Given the description of an element on the screen output the (x, y) to click on. 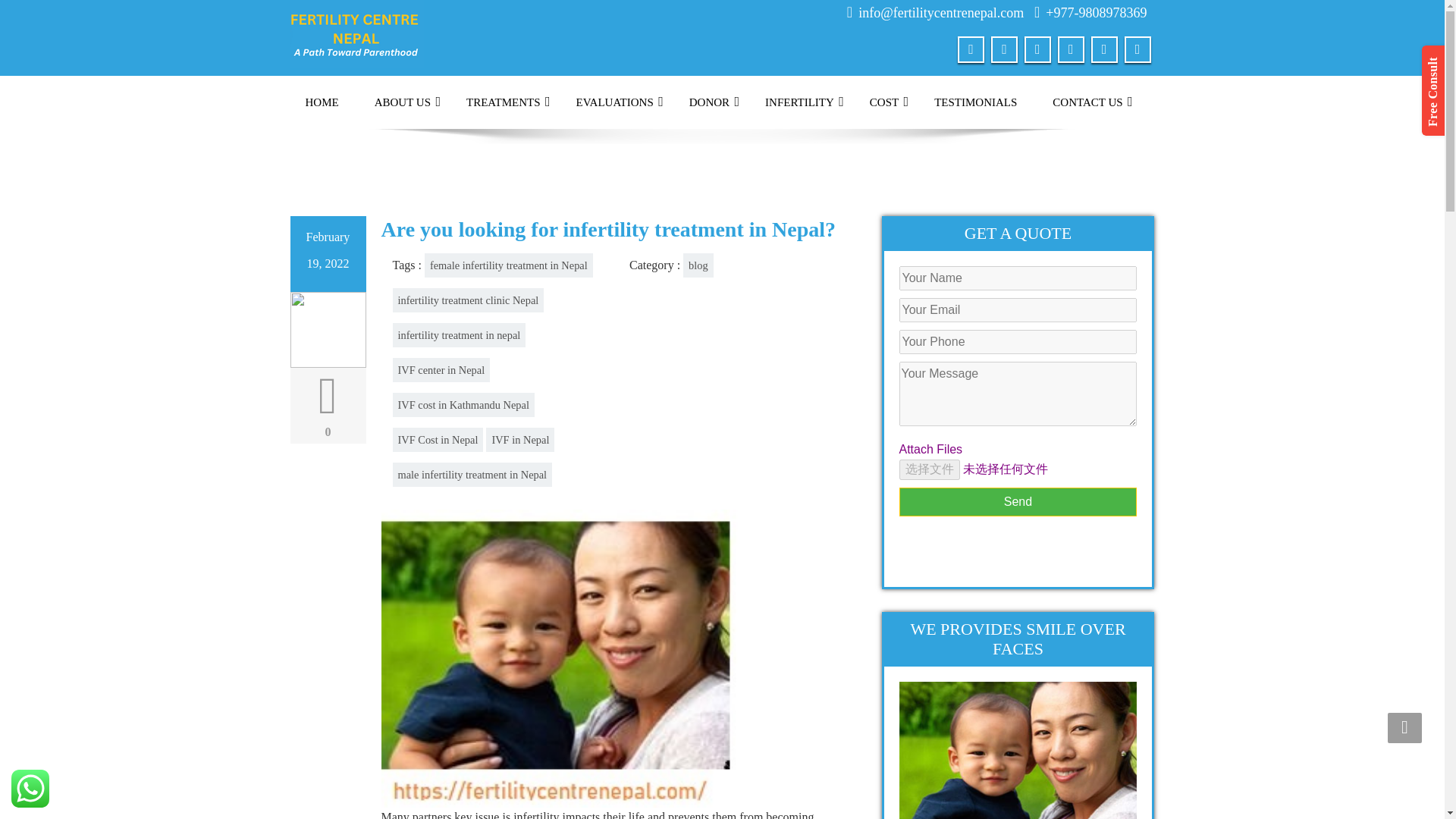
Fertility Centre Nepal (356, 31)
Send (1018, 501)
ABOUT US (402, 101)
TREATMENTS (503, 101)
HOME (321, 101)
